Given the description of an element on the screen output the (x, y) to click on. 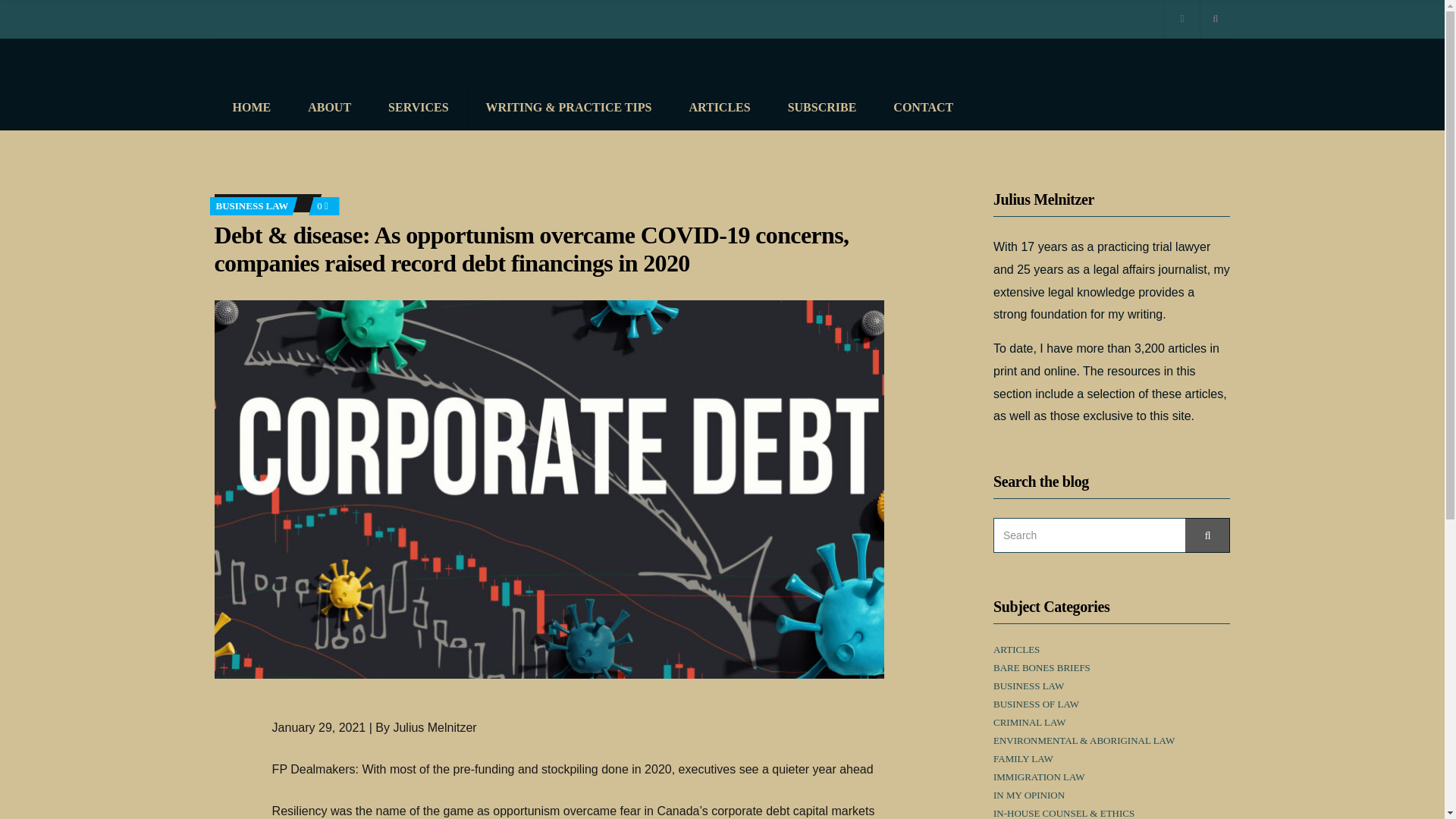
CONTACT (923, 107)
Search (1207, 534)
IMMIGRATION LAW (1038, 776)
BUSINESS OF LAW (1035, 704)
SUBSCRIBE (823, 107)
HOME (251, 107)
BUSINESS LAW (251, 205)
0 (323, 205)
ARTICLES (718, 107)
BARE BONES BRIEFS (1041, 667)
SERVICES (418, 107)
IN MY OPINION (1028, 795)
CRIMINAL LAW (1028, 722)
BUSINESS LAW (1028, 686)
ABOUT (329, 107)
